Given the description of an element on the screen output the (x, y) to click on. 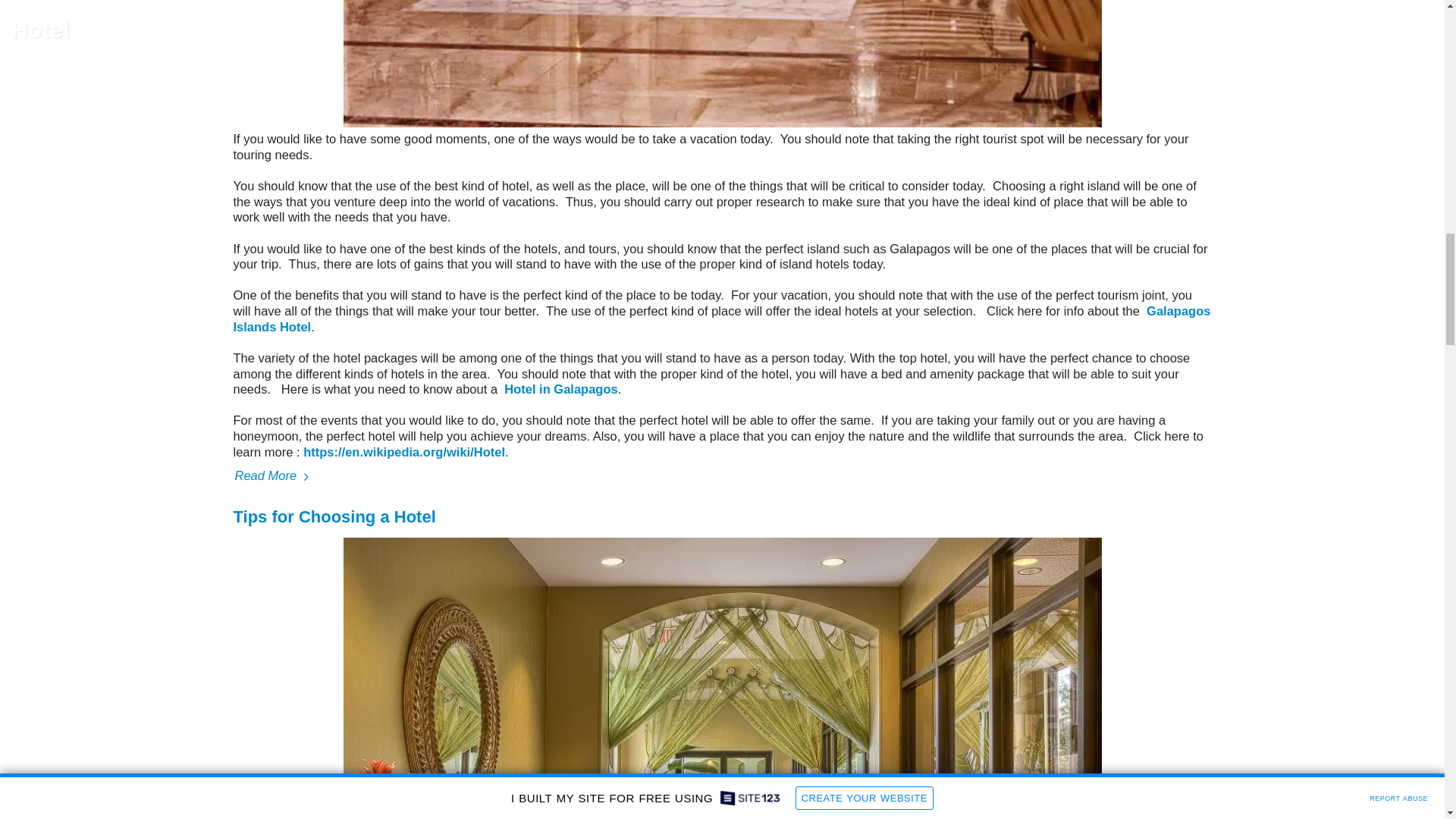
Tips for Choosing a Hotel (333, 516)
 Galapagos Islands Hotel (721, 318)
Hotel in Galapagos (560, 388)
Read More   (721, 475)
